Given the description of an element on the screen output the (x, y) to click on. 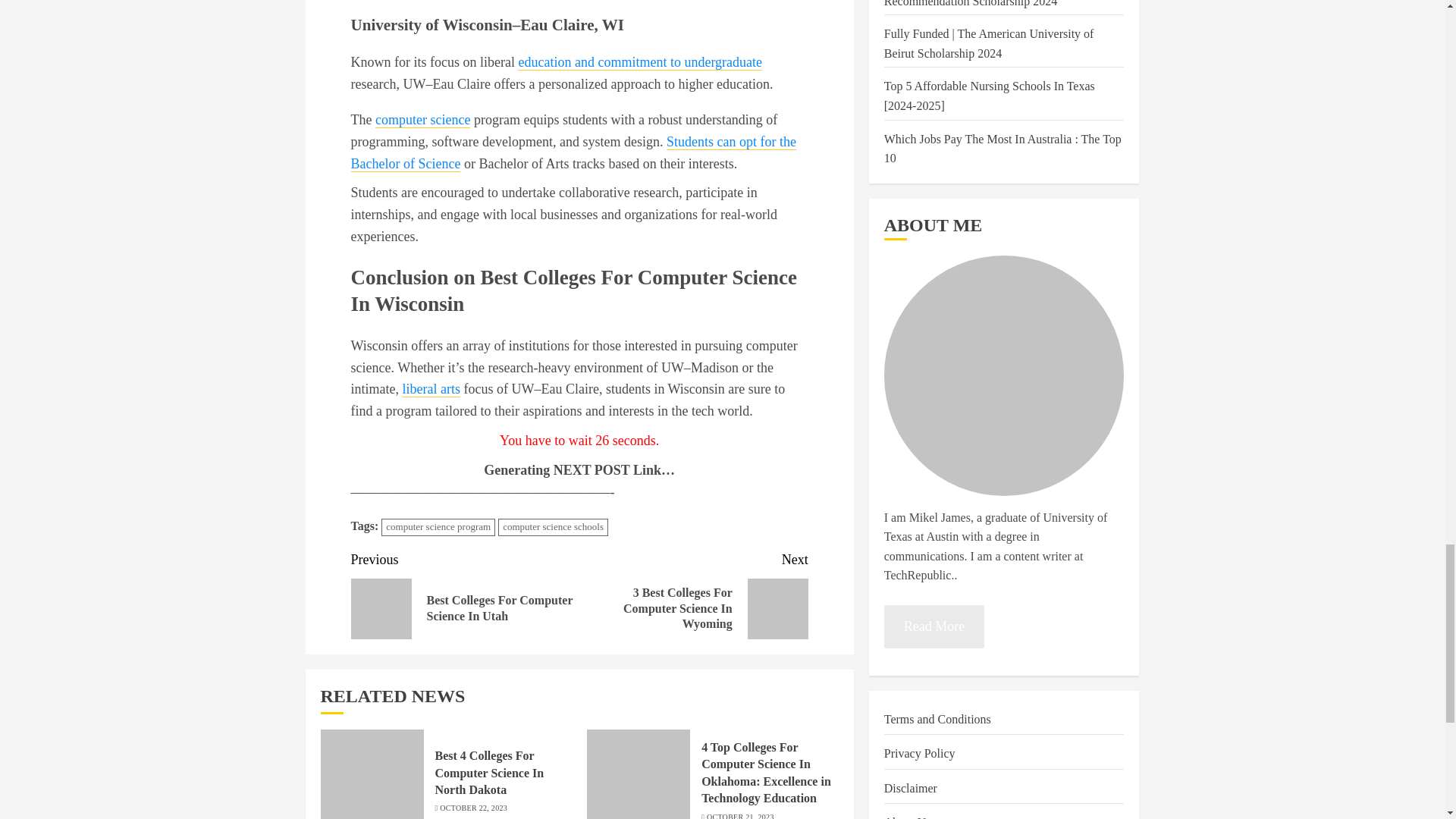
computer science schools (552, 527)
liberal arts (430, 389)
computer science (422, 119)
education and commitment to undergraduate (639, 62)
Students can opt for the Bachelor of Science (572, 152)
computer science program (438, 527)
